Given the description of an element on the screen output the (x, y) to click on. 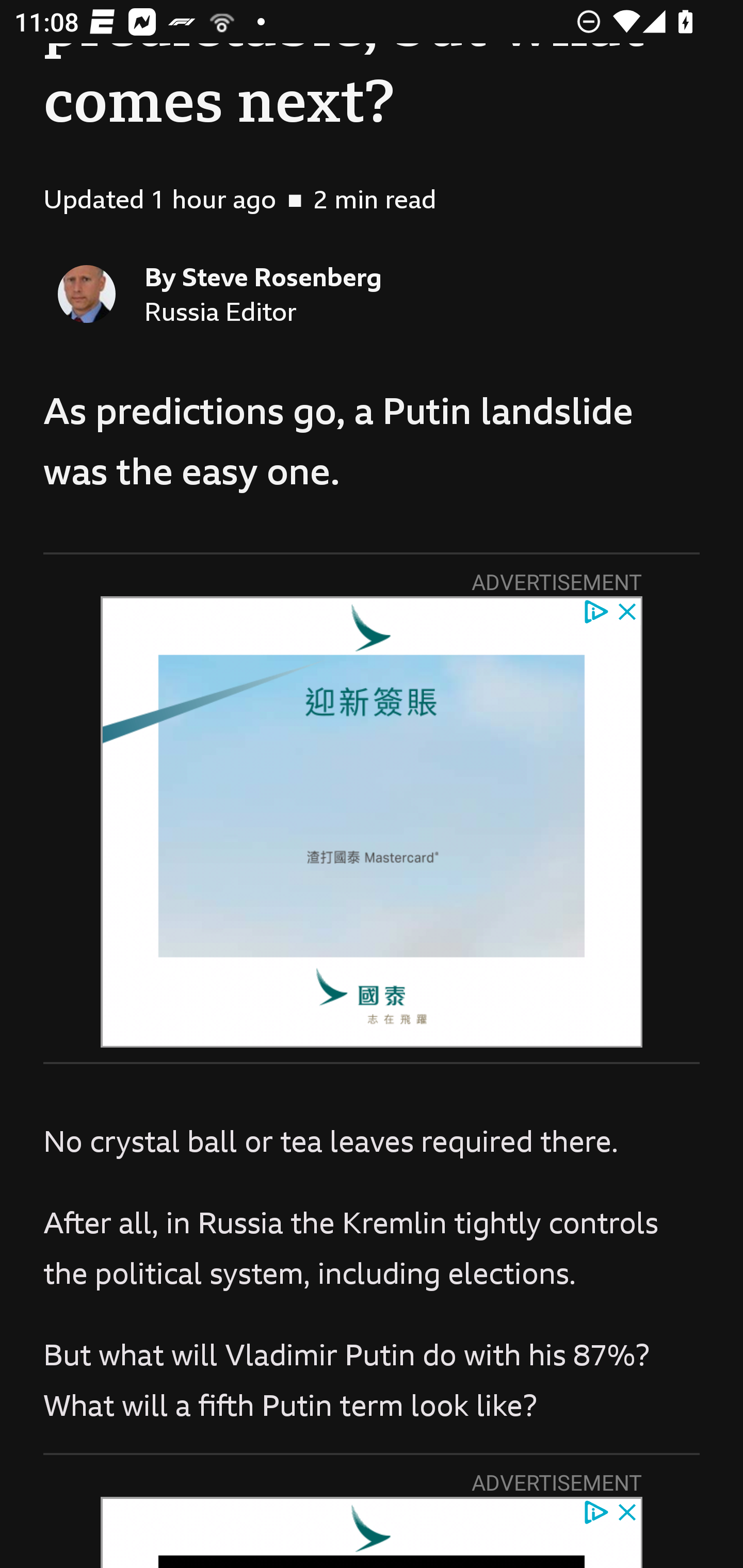
privacy_small (595, 610)
close_button (627, 610)
privacy_small (595, 1511)
close_button (627, 1511)
